Given the description of an element on the screen output the (x, y) to click on. 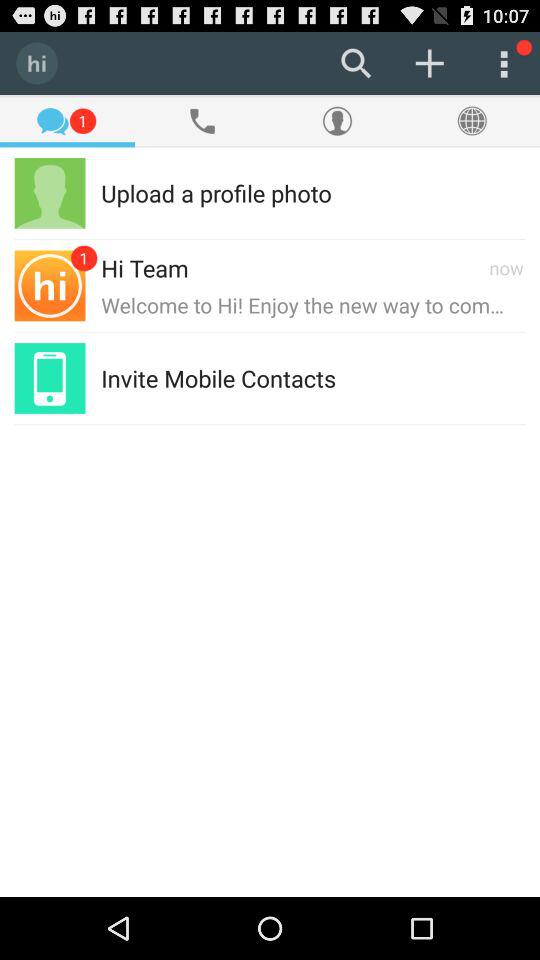
turn on the item on the right (430, 378)
